Given the description of an element on the screen output the (x, y) to click on. 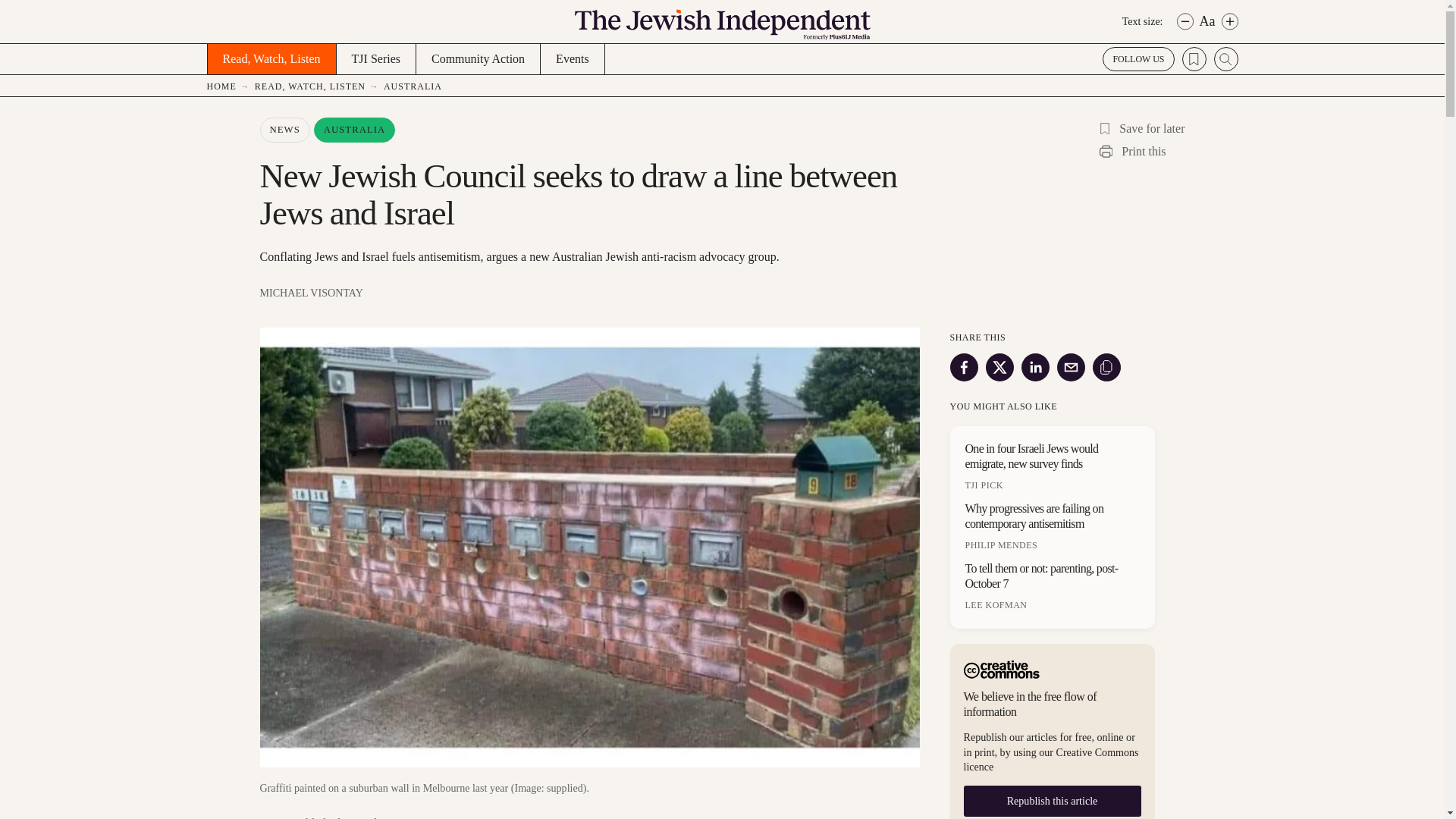
Increase text size (1229, 21)
Community Action (477, 59)
NEWS (283, 129)
AUSTRALIA (355, 129)
FOLLOW US (1137, 58)
Decrease text size (1184, 21)
savedArticles (1192, 58)
Events (572, 59)
AUSTRALIA (415, 85)
socials (1137, 58)
READ, WATCH, LISTEN (319, 85)
search (1224, 58)
Read, Watch, Listen (270, 59)
MICHAEL VISONTAY (588, 293)
HOME (229, 85)
